Given the description of an element on the screen output the (x, y) to click on. 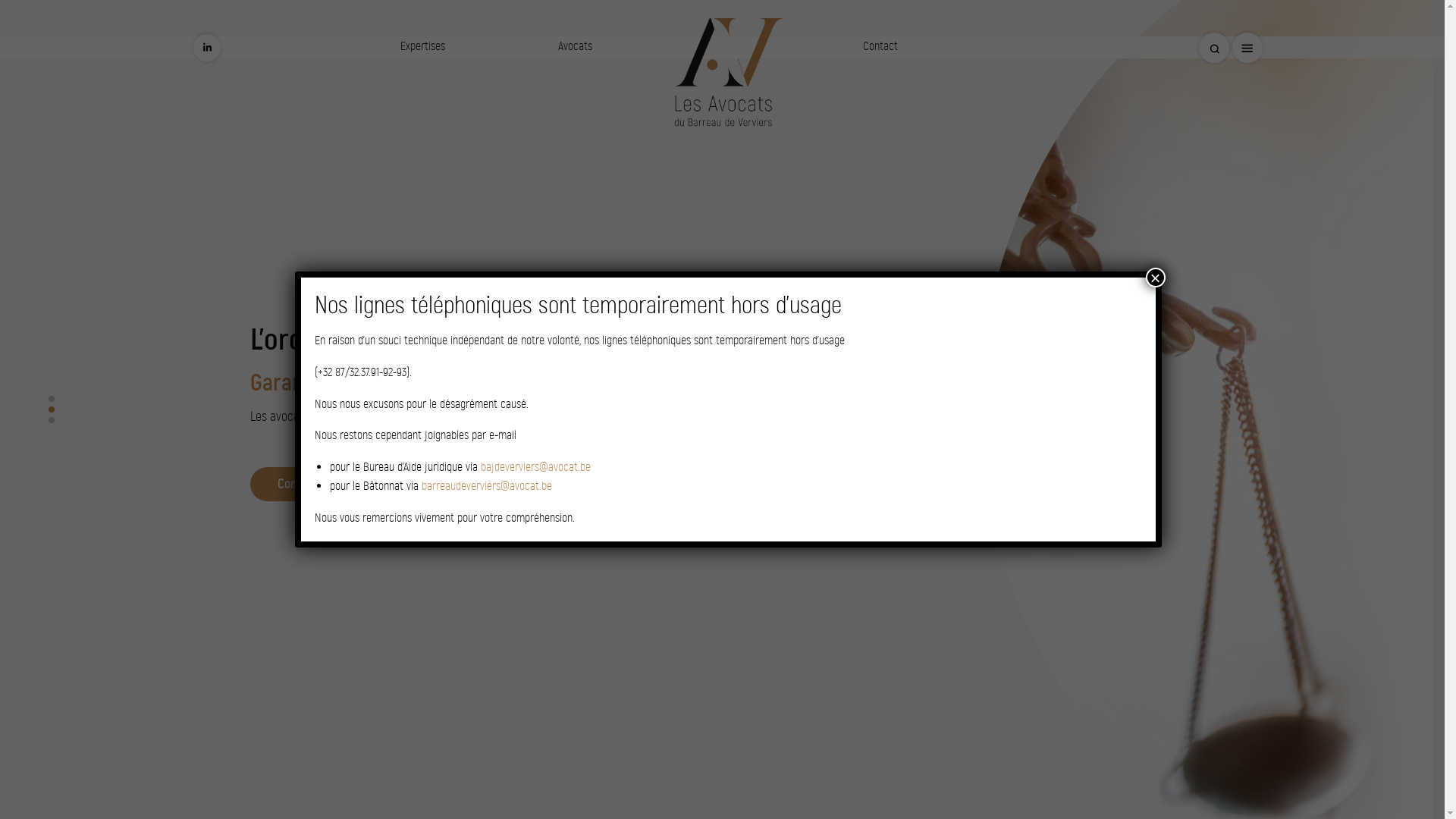
bajdeverviers@avocat.be Element type: text (535, 466)
Consulter Element type: text (302, 484)
Expertises Element type: text (422, 45)
barreaudeverviers@avocat.be Element type: text (486, 485)
Contact Element type: text (879, 45)
Avocats Element type: text (575, 45)
